Given the description of an element on the screen output the (x, y) to click on. 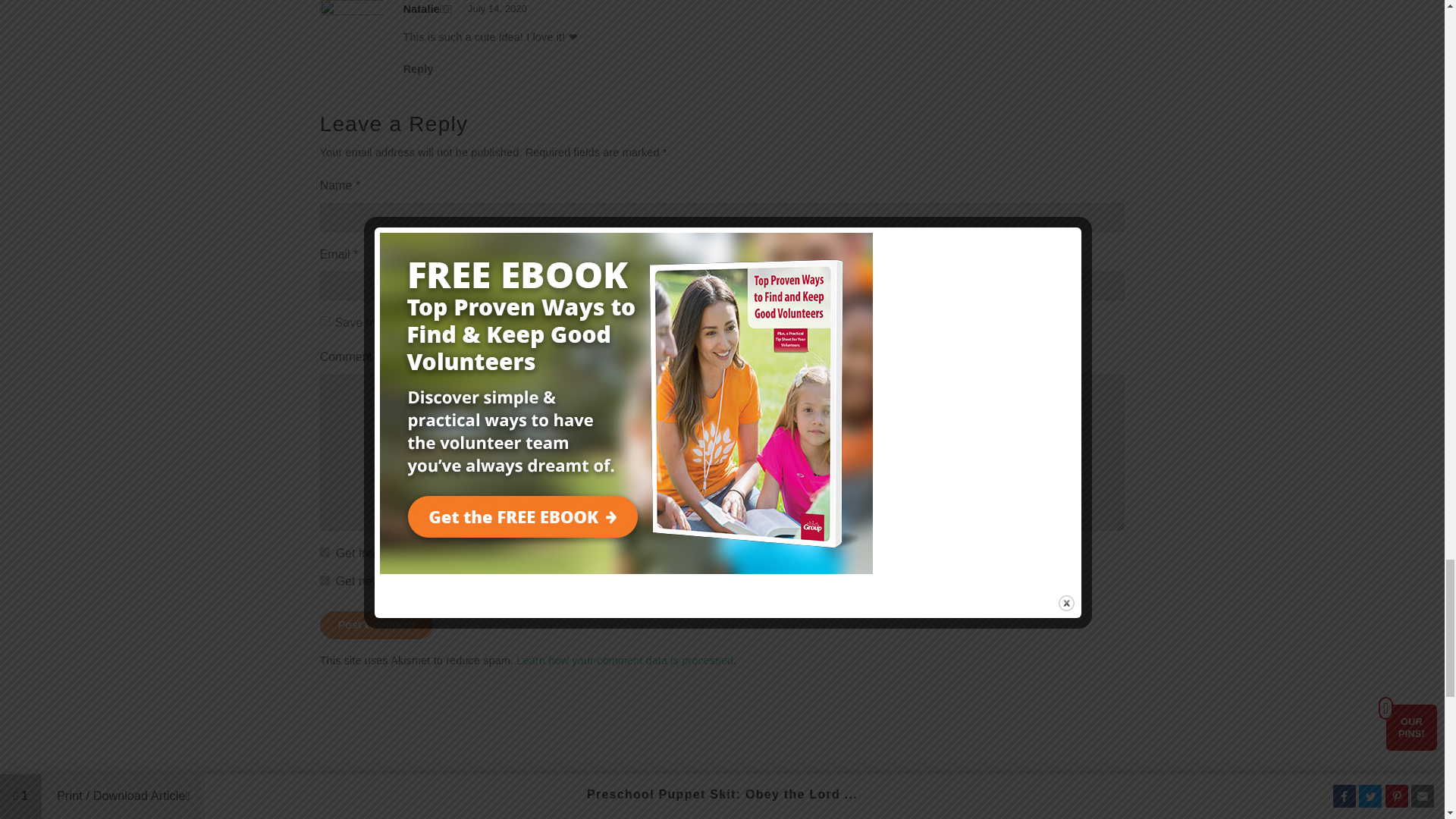
Post Comment (376, 624)
yes (325, 320)
newsletter (325, 552)
subscribeMarketing (325, 580)
